Given the description of an element on the screen output the (x, y) to click on. 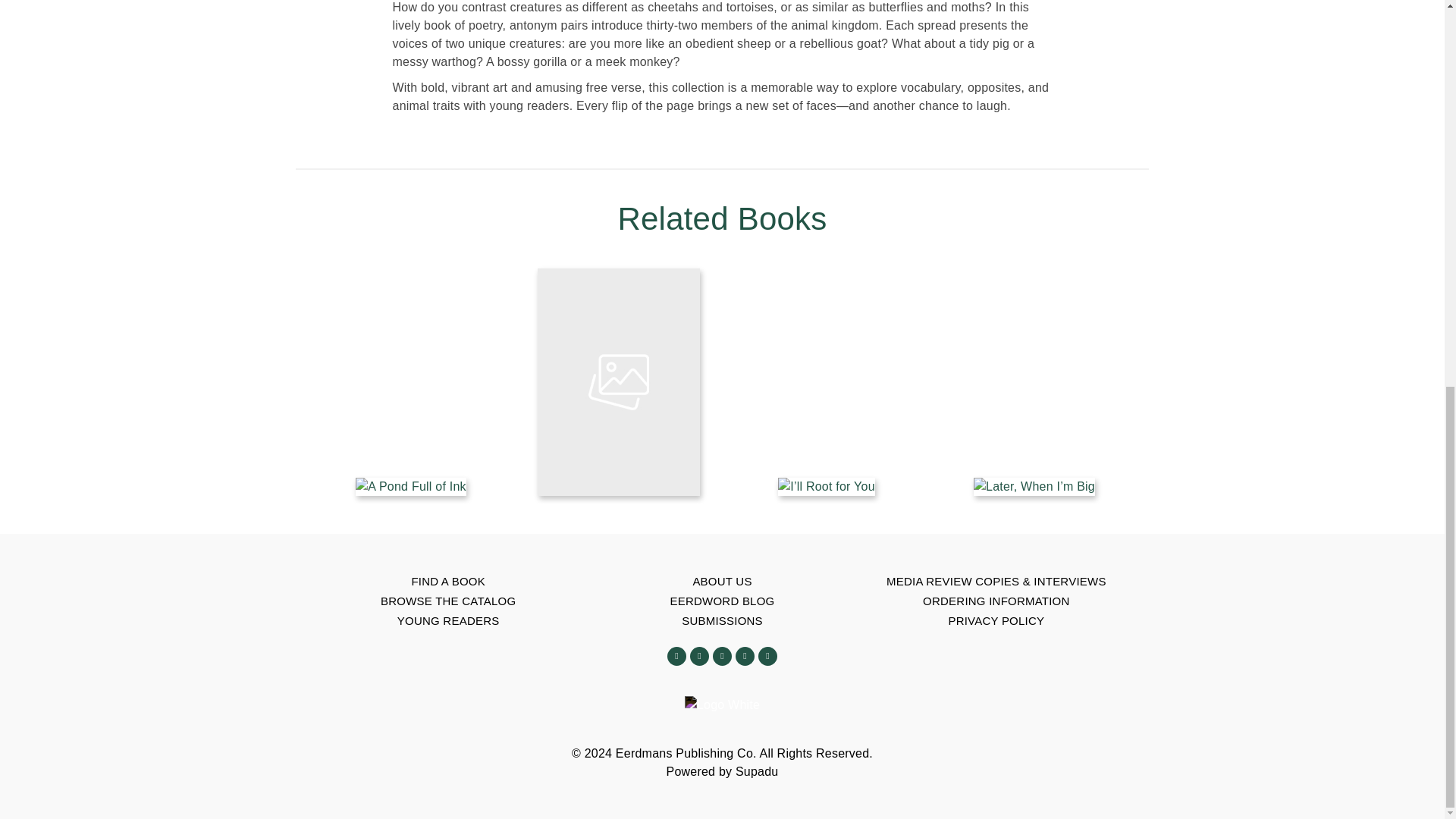
A Pond Full of Ink (410, 486)
